Given the description of an element on the screen output the (x, y) to click on. 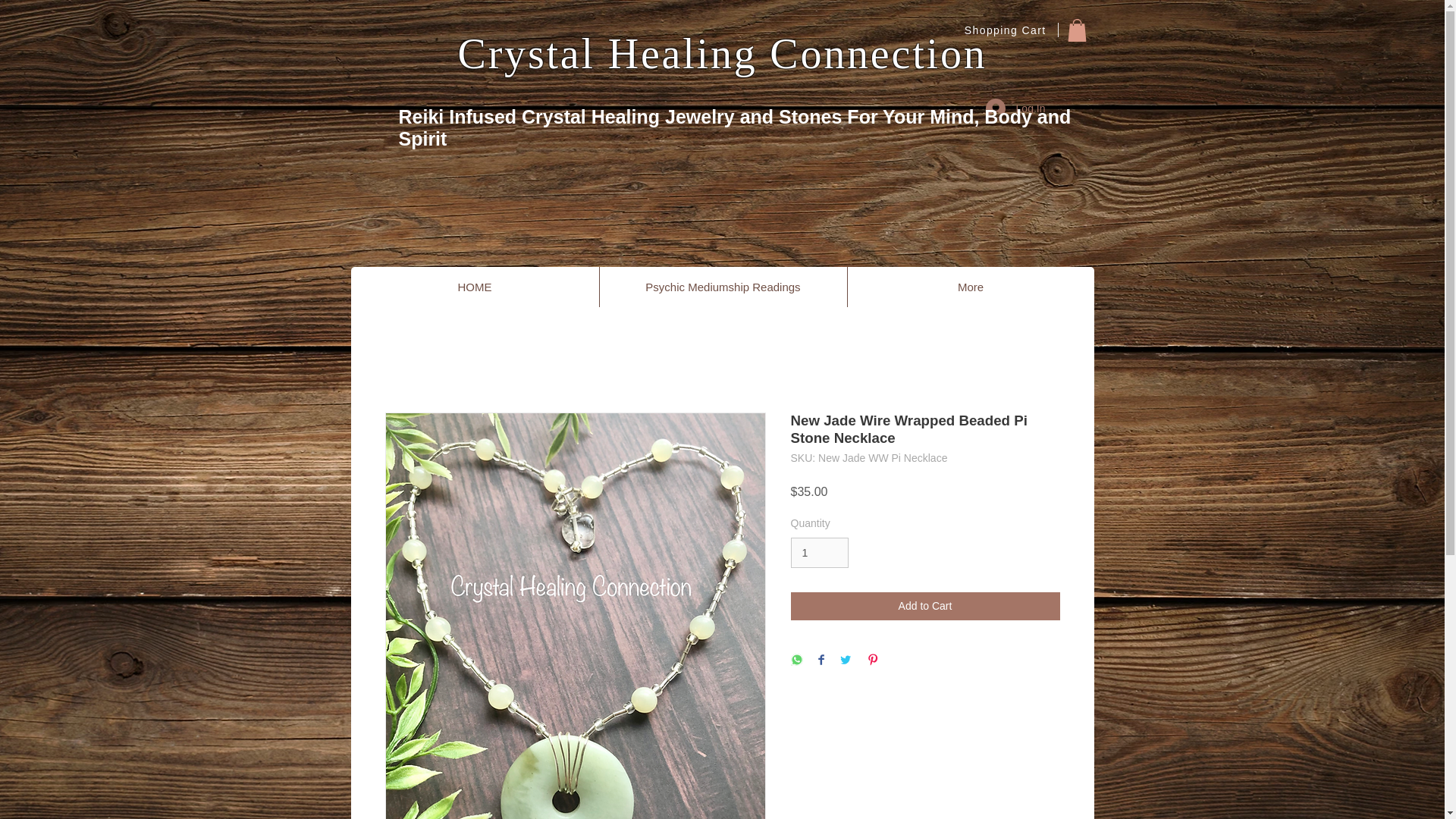
Log In (1016, 108)
1 (818, 552)
Add to Cart (924, 605)
HOME (474, 286)
Crystal Healing Connection (722, 53)
Psychic Mediumship Readings (722, 286)
